Given the description of an element on the screen output the (x, y) to click on. 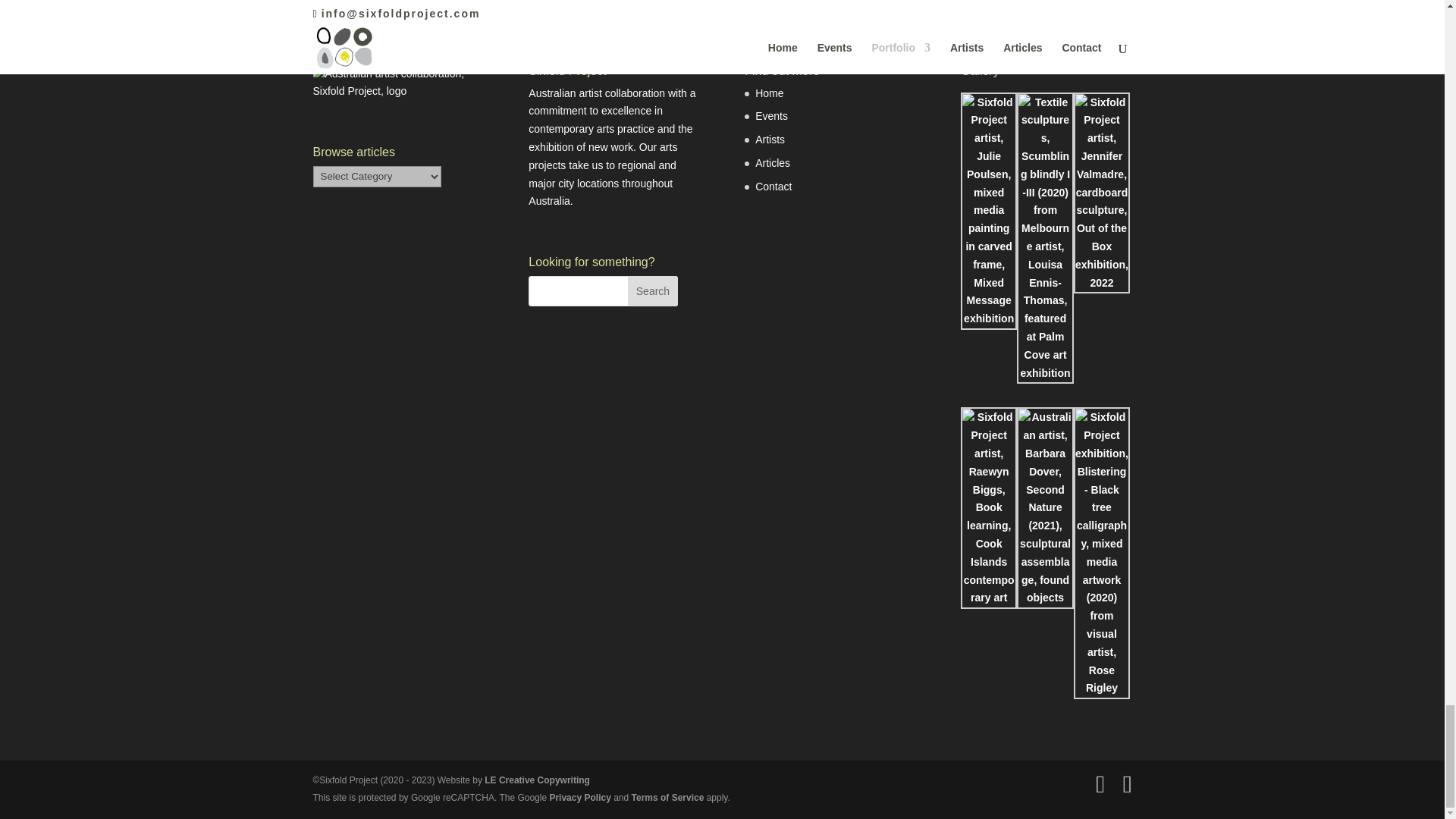
Search (652, 291)
